Given the description of an element on the screen output the (x, y) to click on. 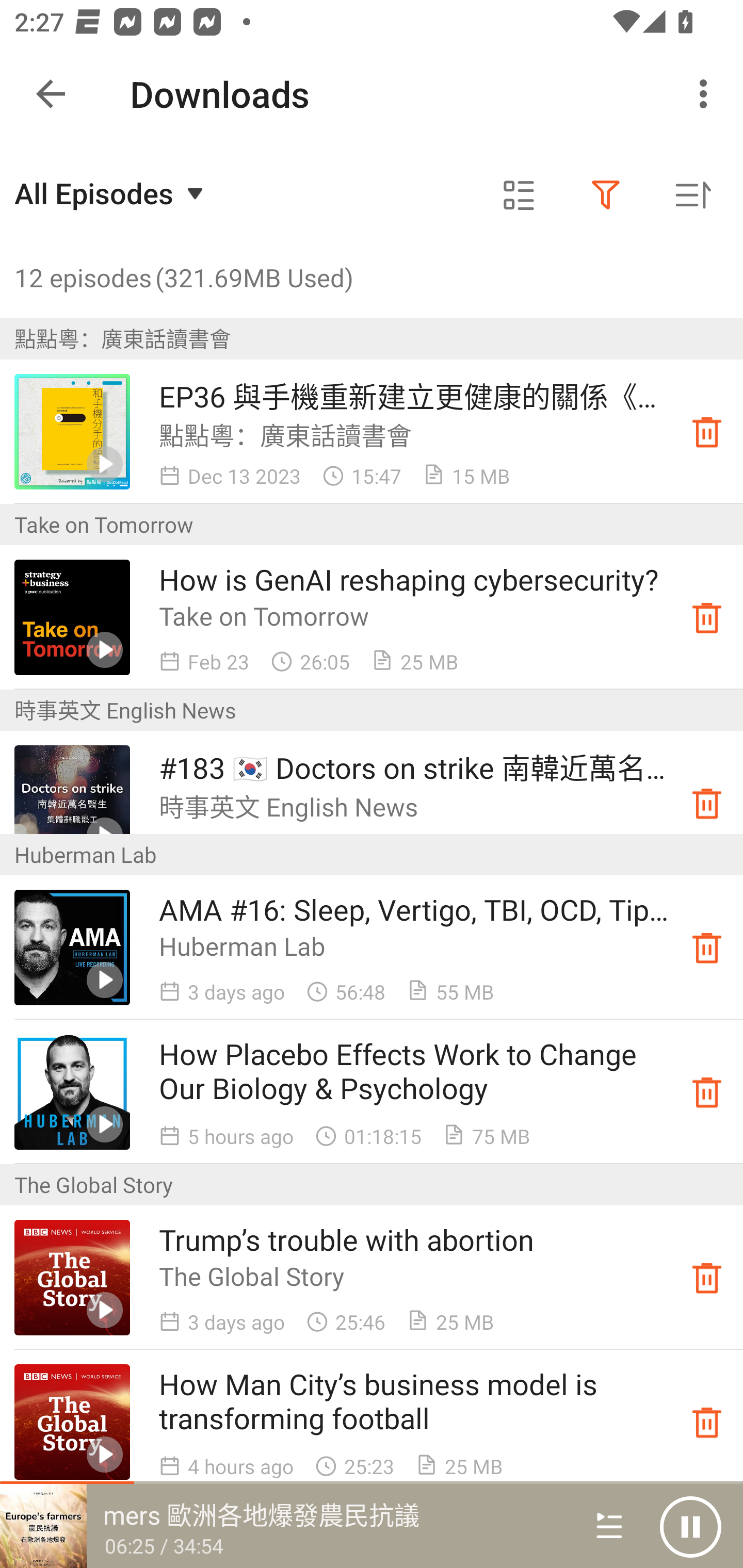
Navigate up (50, 93)
More options (706, 93)
All Episodes (111, 192)
 (518, 195)
 (605, 195)
 Sorted by oldest first (692, 195)
Downloaded (706, 431)
Downloaded (706, 617)
Downloaded (706, 802)
Downloaded (706, 947)
Downloaded (706, 1091)
Downloaded (706, 1277)
Downloaded (706, 1422)
#181 🧑‍🌾 Europe's farmers 歐洲各地爆發農民抗議 06:25 / 34:54 (283, 1525)
Pause (690, 1526)
